Given the description of an element on the screen output the (x, y) to click on. 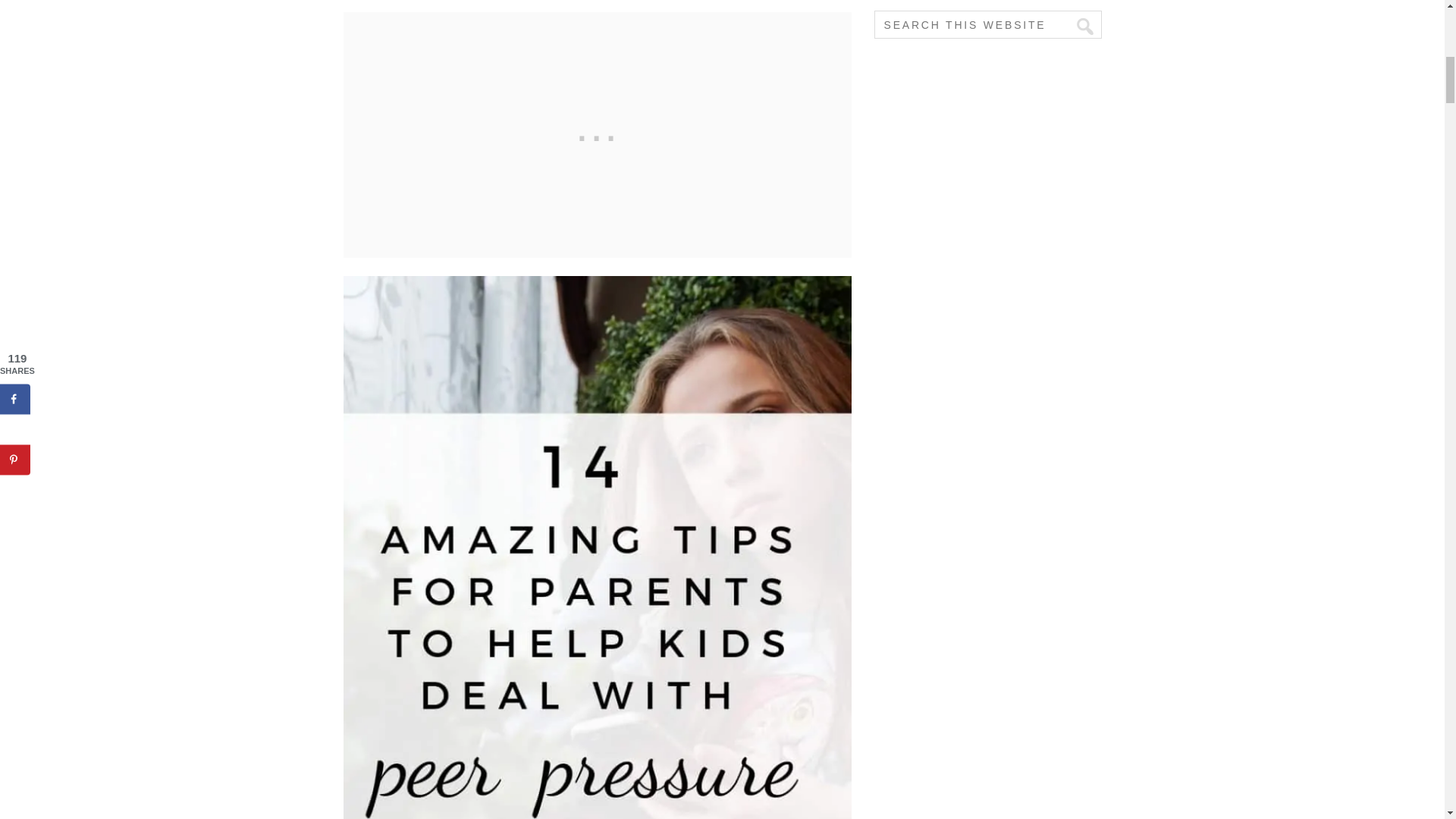
Search (1078, 26)
Search (1078, 26)
Search (1078, 26)
